Given the description of an element on the screen output the (x, y) to click on. 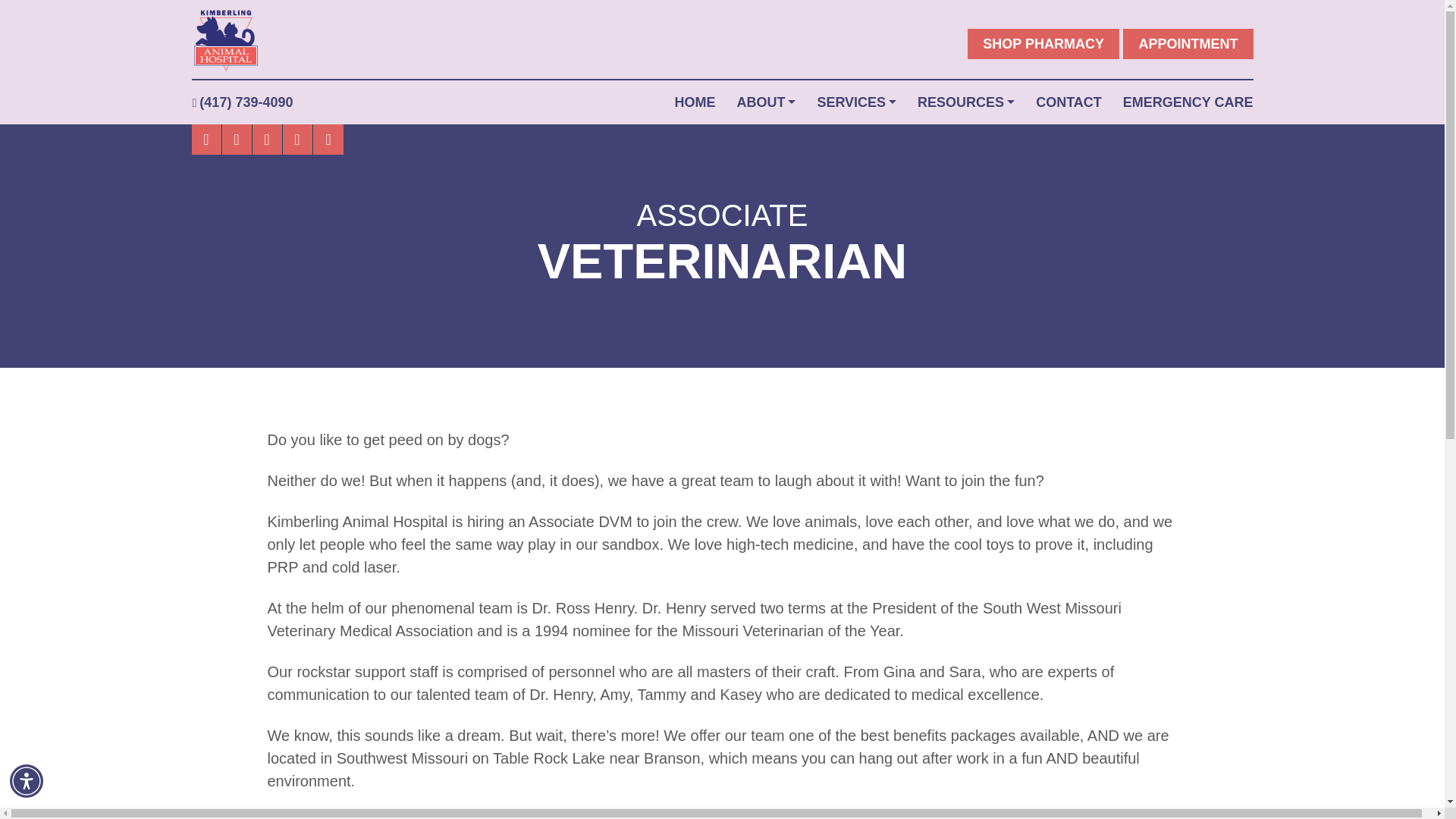
APPOINTMENT (1187, 43)
ABOUT (760, 102)
SHOP PHARMACY (1043, 43)
SERVICES (850, 102)
Accessibility Menu (26, 780)
Search (21, 7)
HOME (694, 102)
CONTACT (1068, 102)
RESOURCES (960, 102)
EMERGENCY CARE (1187, 102)
